Given the description of an element on the screen output the (x, y) to click on. 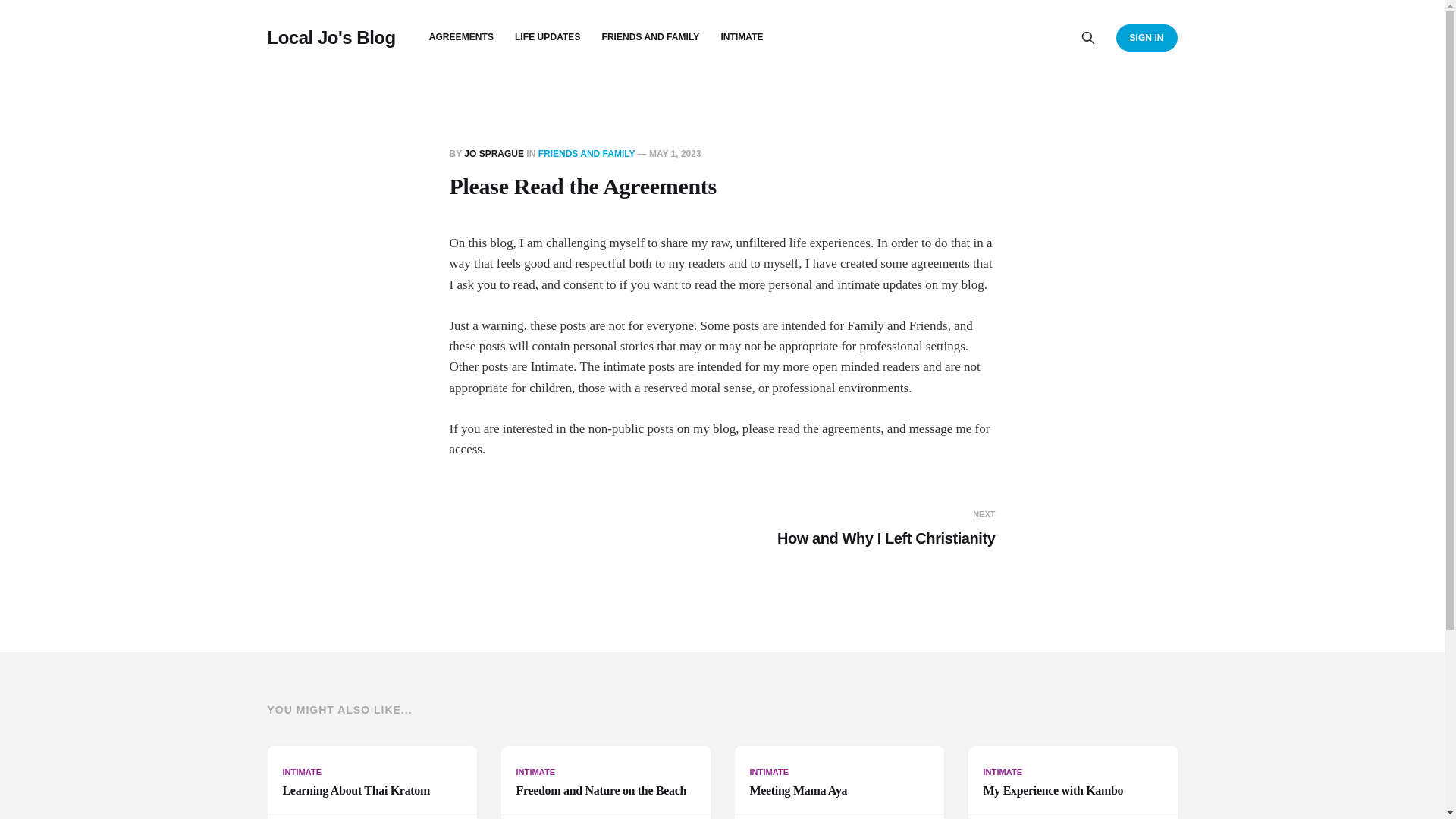
Local Jo's Blog (330, 37)
INTIMATE (741, 36)
JO SPRAGUE (494, 153)
FRIENDS AND FAMILY (858, 527)
SIGN IN (371, 782)
LIFE UPDATES (838, 782)
